Given the description of an element on the screen output the (x, y) to click on. 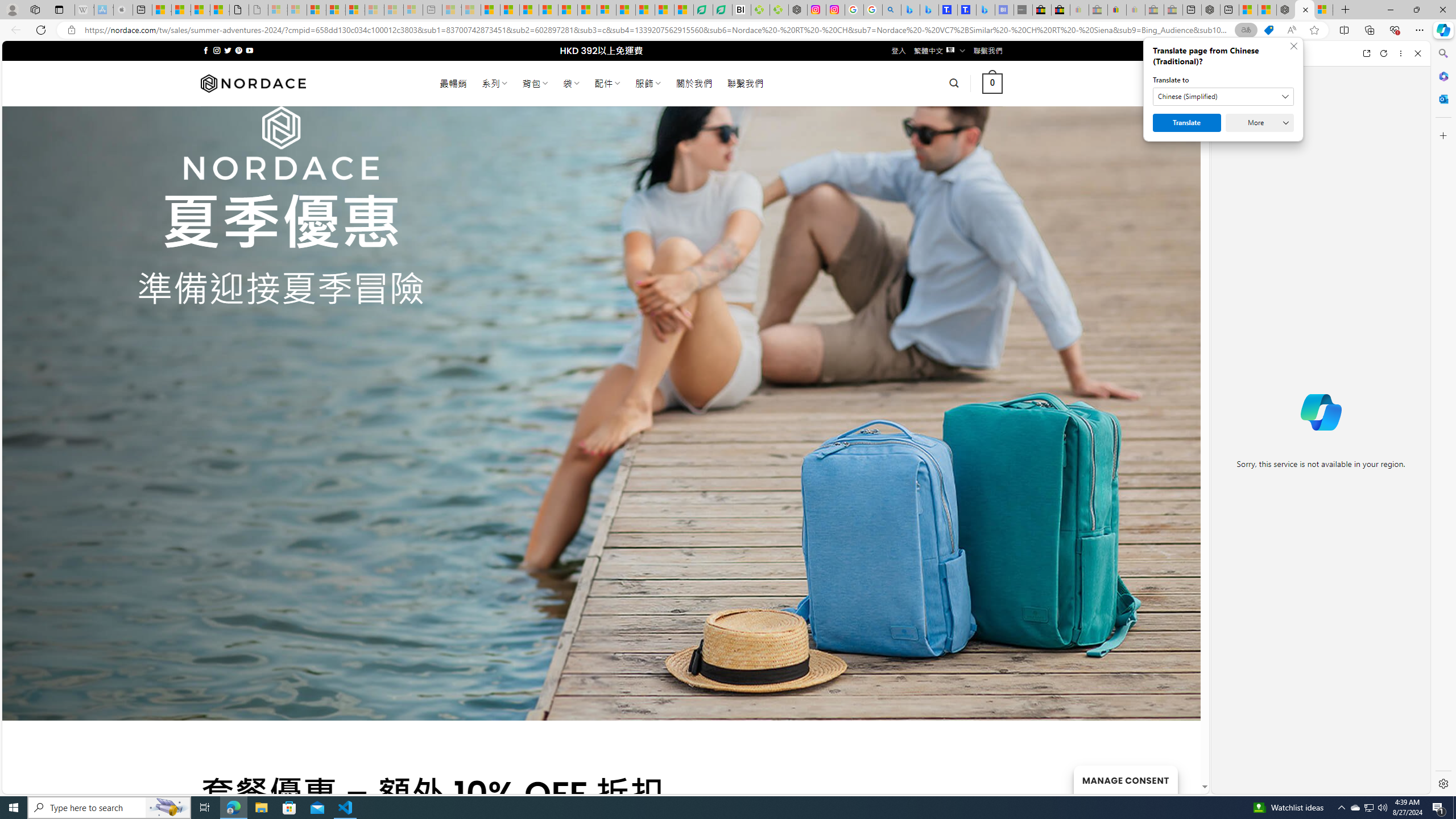
Sign in to your Microsoft account - Sleeping (277, 9)
Threats and offensive language policy | eBay (1116, 9)
More options (1401, 53)
Nordace - Summer Adventures 2024 (1304, 9)
Microsoft Bing Travel - Stays in Bangkok, Bangkok, Thailand (929, 9)
Side bar (1443, 418)
The importance of being lazy (1267, 9)
Nvidia va a poner a prueba la paciencia de los inversores (741, 9)
Safety in Our Products - Google Safety Center (853, 9)
